Given the description of an element on the screen output the (x, y) to click on. 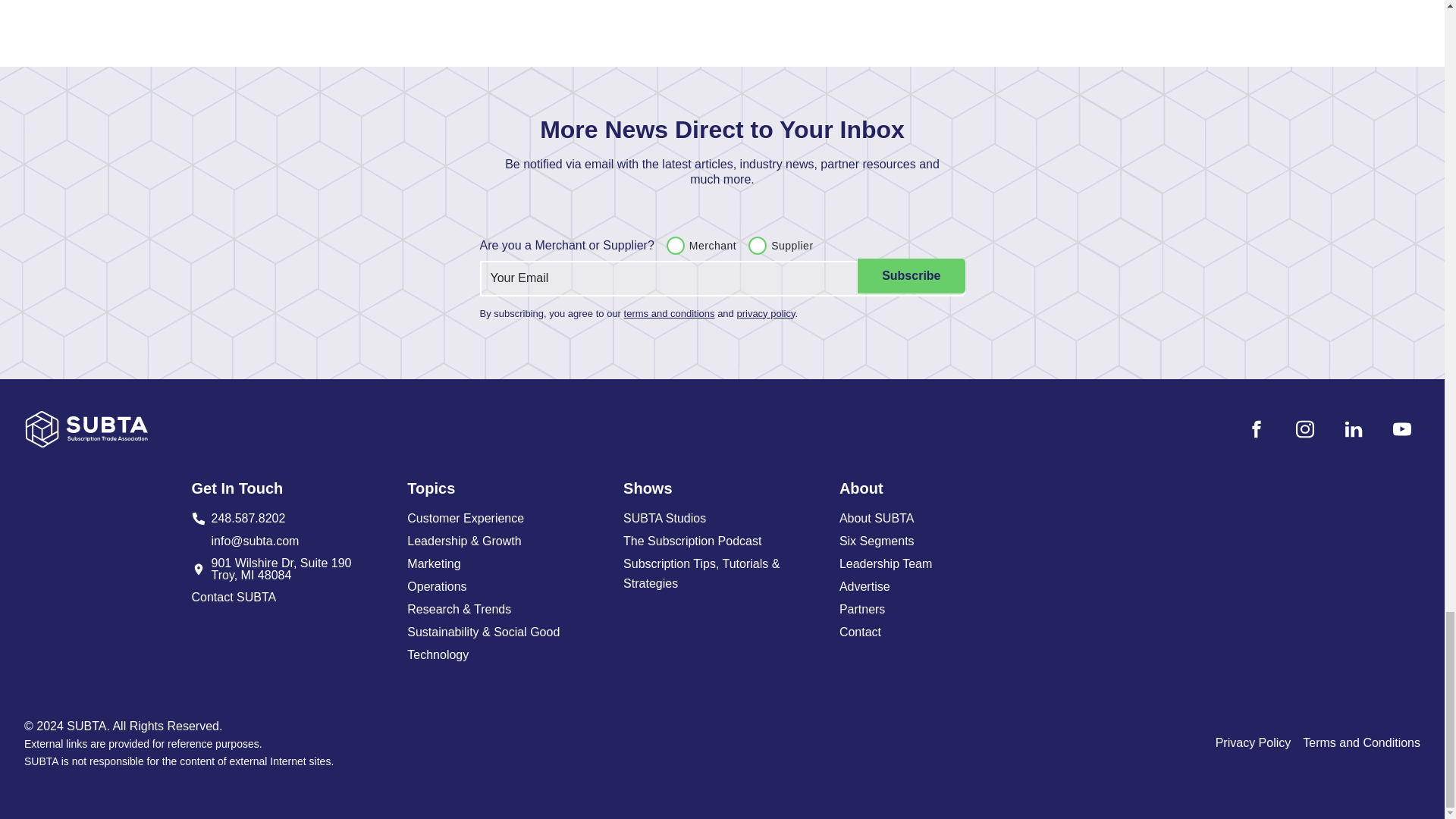
Subscribe (910, 275)
Supplier (757, 245)
terms and conditions (289, 569)
Contact SUBTA (669, 313)
Customer Experience (289, 597)
248.587.8202 (506, 518)
Operations (289, 518)
privacy policy (506, 587)
Merchant (765, 313)
Marketing (675, 245)
